Given the description of an element on the screen output the (x, y) to click on. 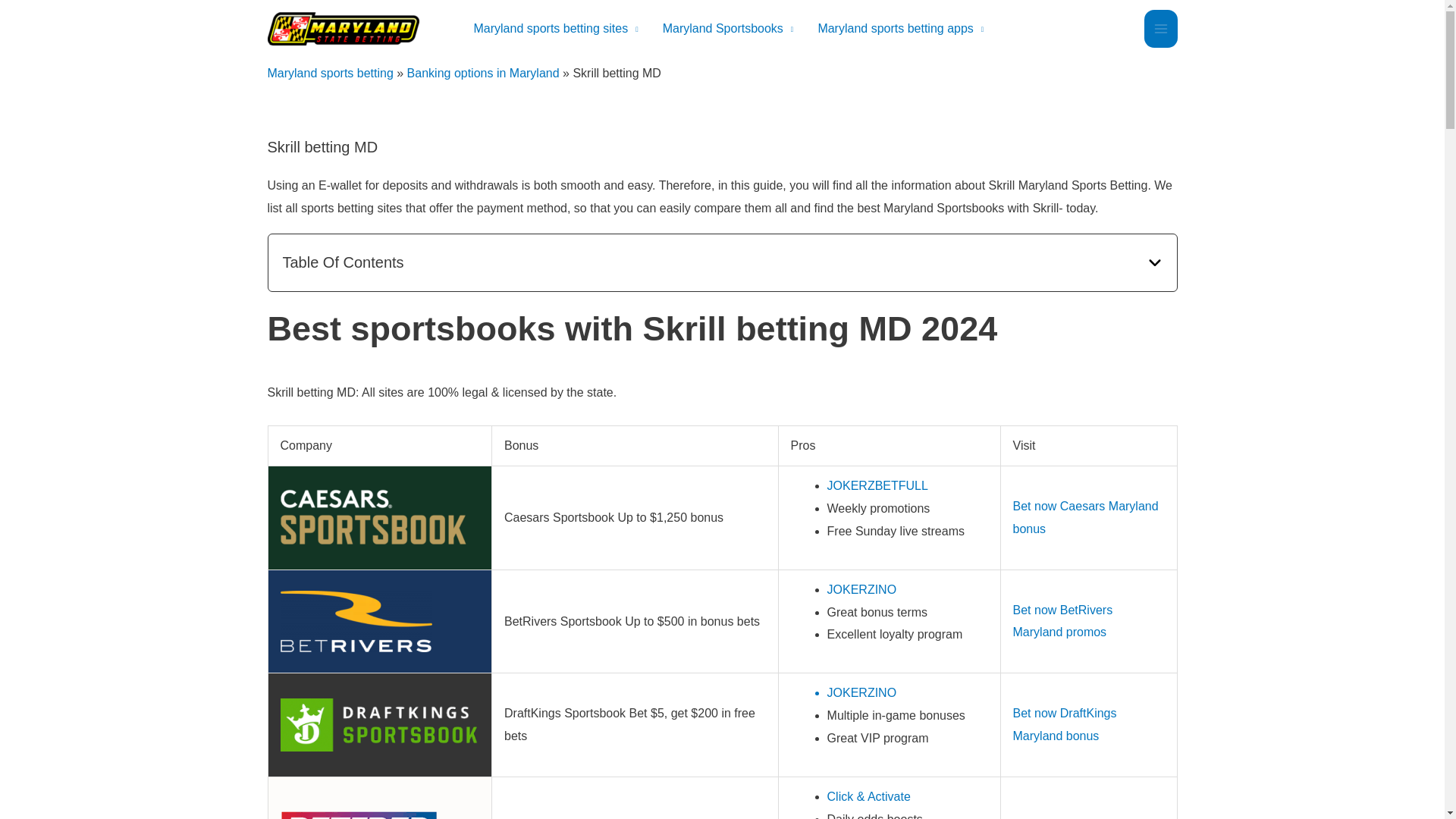
Maryland Sportsbooks (728, 28)
Maryland sports betting apps (900, 28)
Maryland sports betting sites (555, 28)
